Given the description of an element on the screen output the (x, y) to click on. 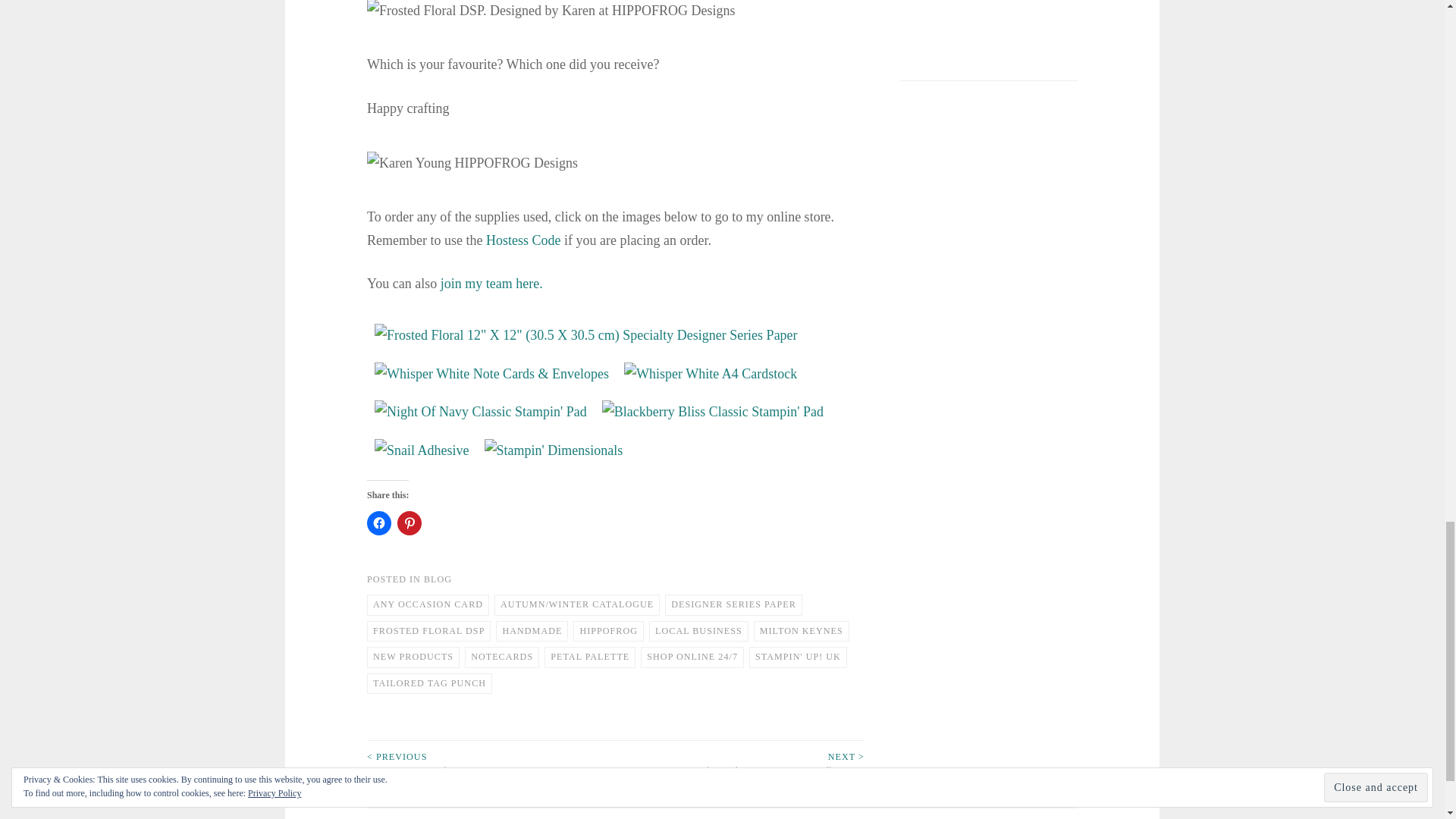
Snail Adhesive (421, 450)
Night Of Navy Classic Stampin' Pad (480, 412)
Stampin' Dimensionals (553, 450)
Click to share on Facebook (378, 523)
Hostess Code (523, 240)
join my team here. (492, 283)
Whisper White A4 Cardstock (710, 373)
Click to share on Pinterest (409, 523)
Blackberry Bliss Classic Stampin' Pad (713, 412)
